Given the description of an element on the screen output the (x, y) to click on. 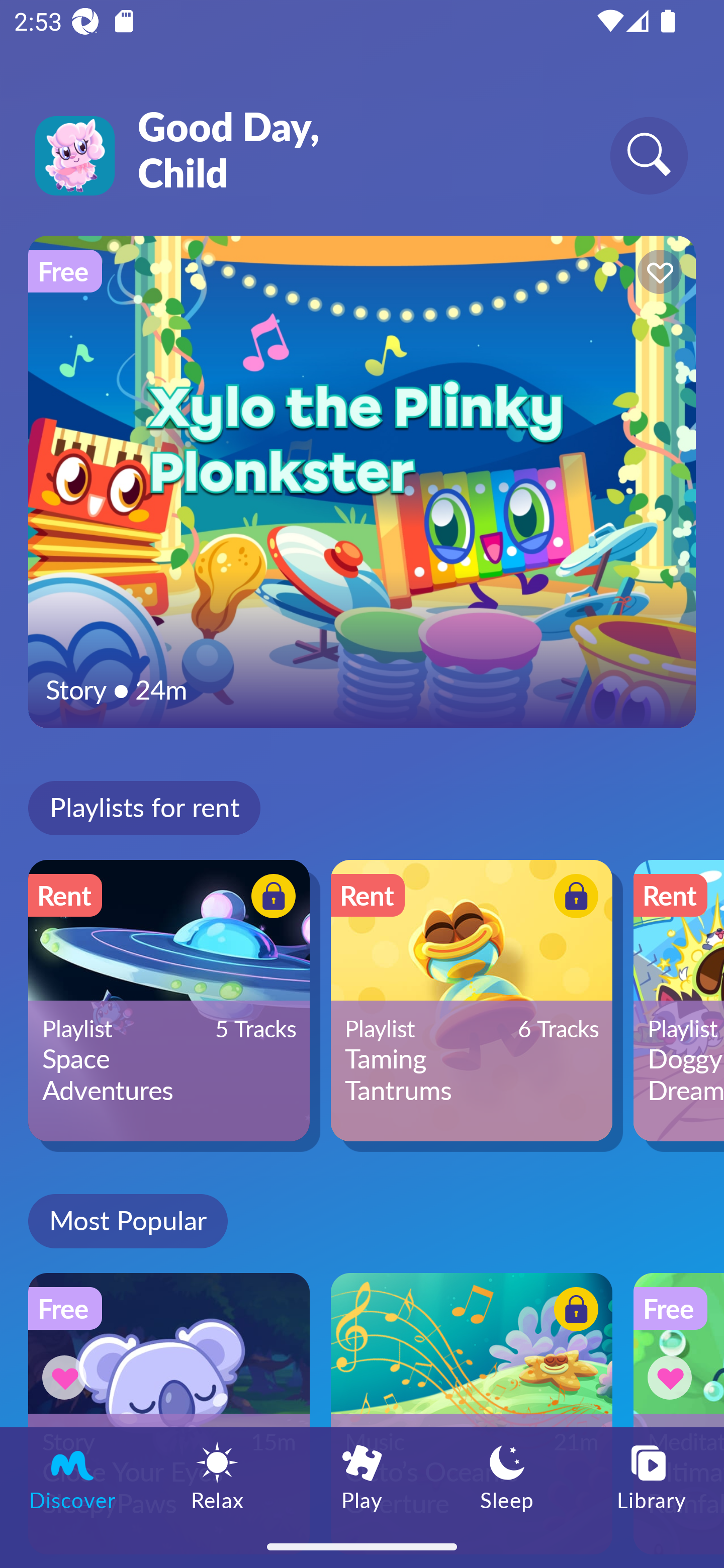
Search (648, 154)
Featured Content Free Button Story ● 24m (361, 481)
Button (656, 274)
Button (269, 898)
Button (573, 898)
Button (573, 1312)
Button (67, 1377)
Button (672, 1377)
Relax (216, 1475)
Play (361, 1475)
Sleep (506, 1475)
Library (651, 1475)
